Given the description of an element on the screen output the (x, y) to click on. 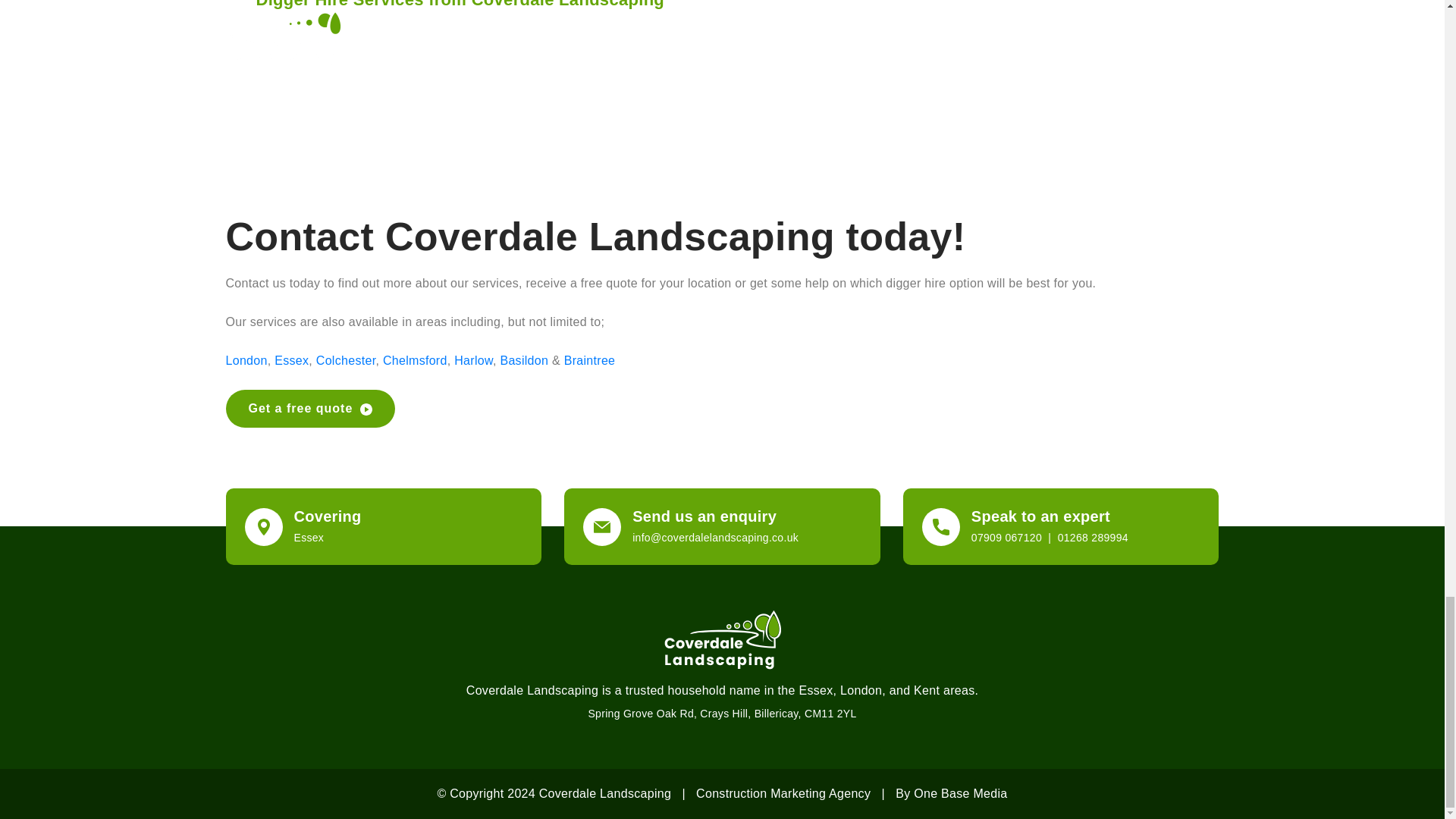
07909 067120 (1006, 537)
Essex (291, 359)
Basildon (523, 359)
01268 289994 (1093, 537)
Get a free quote (310, 408)
London (246, 359)
Harlow (473, 359)
Chelmsford (414, 359)
Colchester (345, 359)
Braintree (589, 359)
